Given the description of an element on the screen output the (x, y) to click on. 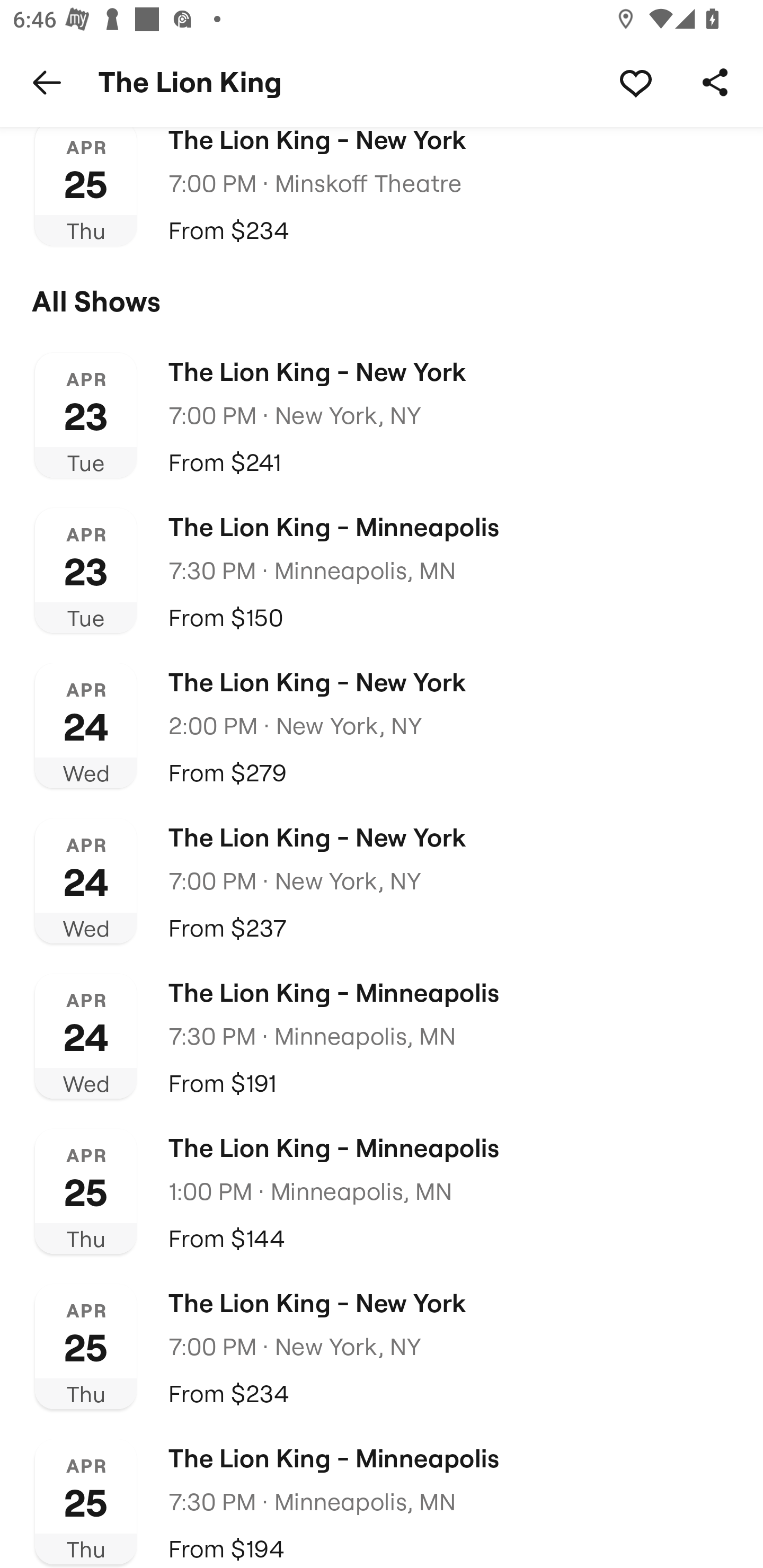
Back (47, 81)
Track this performer (635, 81)
Share this performer (715, 81)
